Given the description of an element on the screen output the (x, y) to click on. 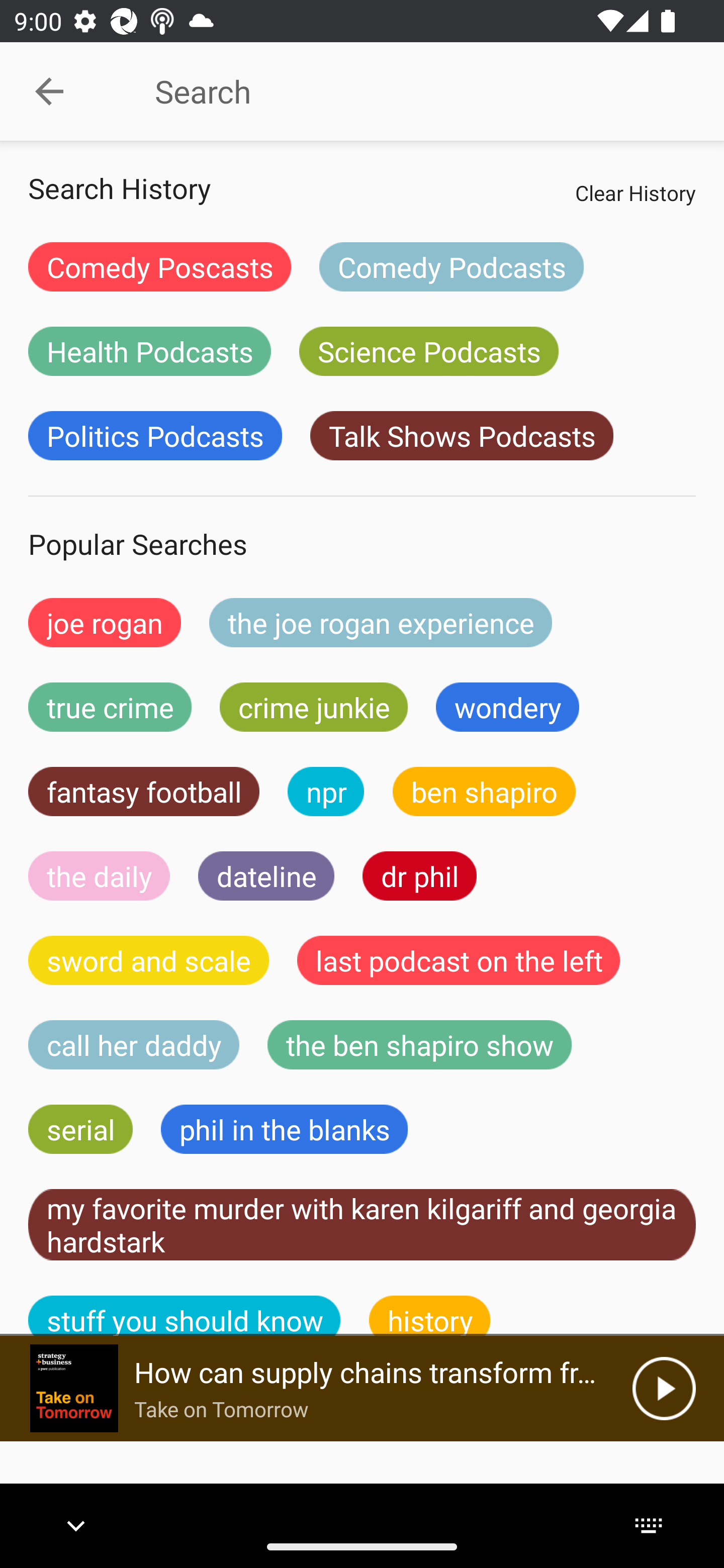
Collapse (49, 91)
Search (407, 91)
Clear History (634, 192)
Comedy Poscasts (159, 266)
Comedy Podcasts (451, 266)
Health Podcasts (149, 351)
Science Podcasts (428, 351)
Politics Podcasts (155, 435)
Talk Shows Podcasts (461, 435)
joe rogan (104, 622)
the joe rogan experience (380, 622)
true crime (109, 707)
crime junkie (313, 707)
wondery (507, 707)
fantasy football (143, 791)
npr (325, 791)
ben shapiro (483, 791)
the daily (99, 875)
dateline (266, 875)
dr phil (419, 875)
sword and scale (148, 960)
last podcast on the left (458, 960)
call her daddy (133, 1044)
the ben shapiro show (419, 1044)
serial (80, 1128)
phil in the blanks (283, 1128)
stuff you should know (184, 1315)
history (429, 1315)
Play (663, 1388)
